Given the description of an element on the screen output the (x, y) to click on. 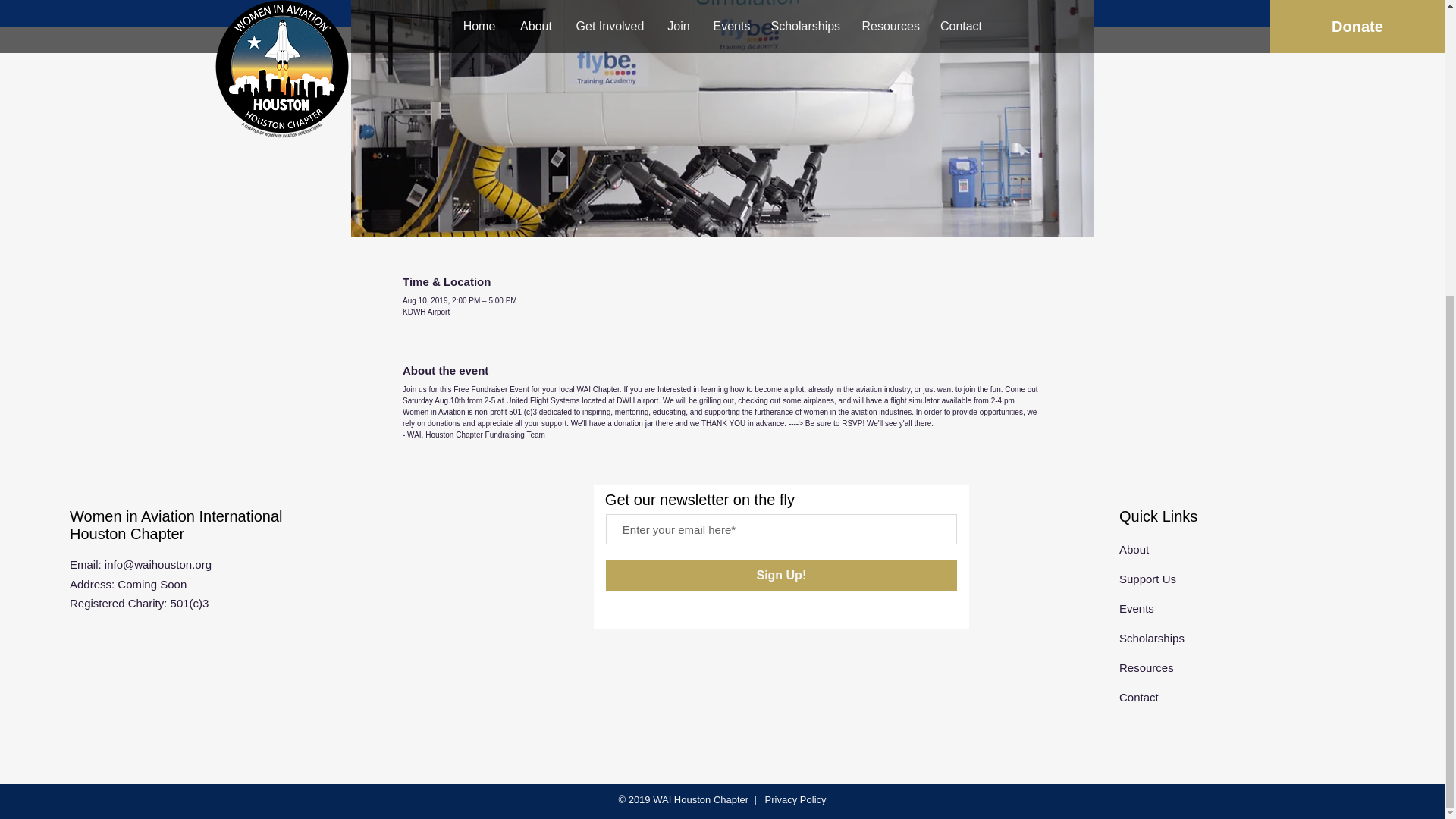
Events (1136, 608)
Scholarships (1152, 637)
 Privacy Policy (794, 799)
Resources (1146, 667)
Contact (1138, 697)
About (1133, 549)
Sign Up! (780, 575)
Support Us (1147, 578)
